Given the description of an element on the screen output the (x, y) to click on. 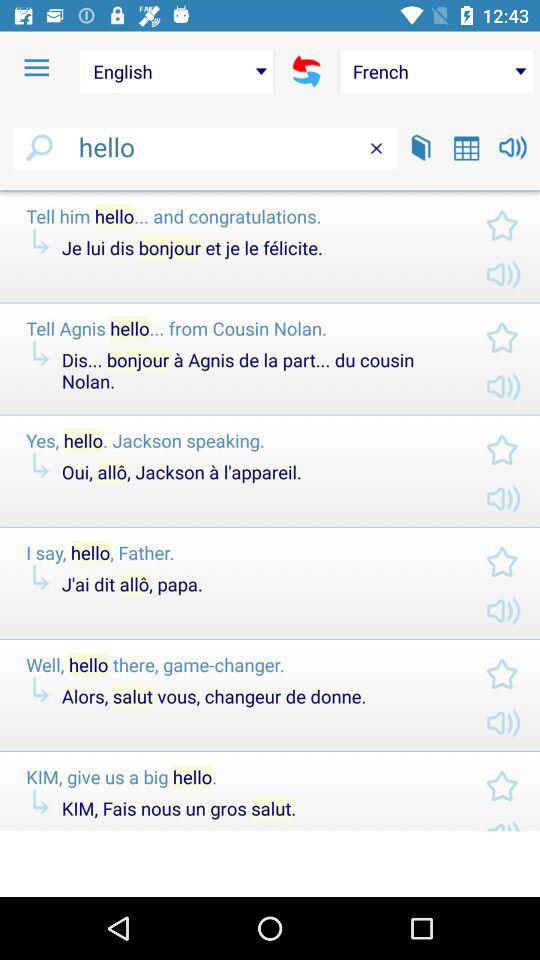
show example in sentences (421, 147)
